Given the description of an element on the screen output the (x, y) to click on. 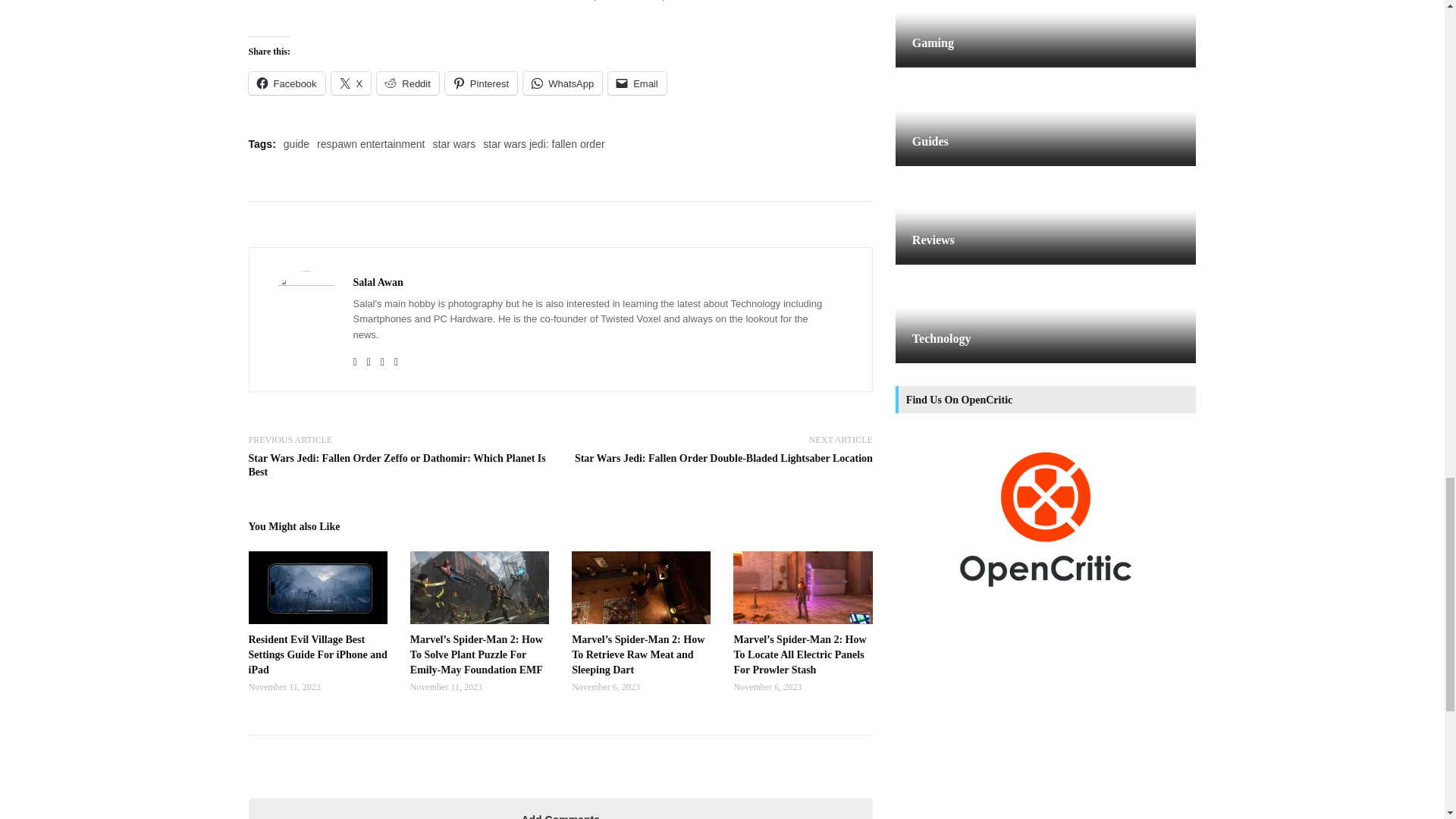
guide (295, 143)
star wars (454, 143)
Click to email a link to a friend (637, 82)
X (351, 82)
Click to share on Facebook (286, 82)
Click to share on WhatsApp (562, 82)
Facebook (286, 82)
Click to share on X (351, 82)
